Given the description of an element on the screen output the (x, y) to click on. 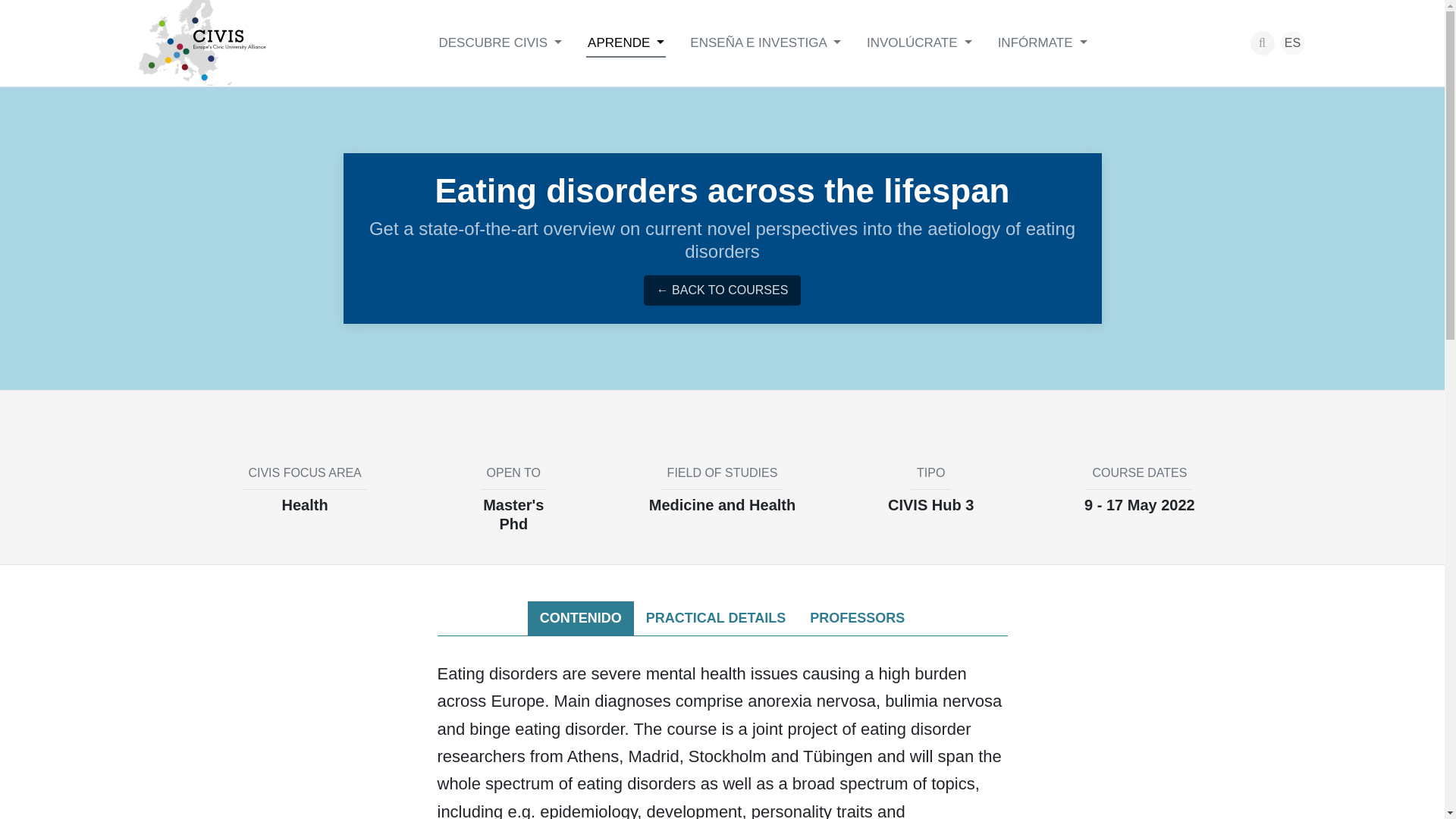
CONTENIDO (580, 618)
PROFESSORS (857, 618)
PRACTICAL DETAILS (715, 618)
APRENDE (625, 42)
ES (1291, 43)
DESCUBRE CIVIS (499, 42)
SEARCH (1261, 43)
